Given the description of an element on the screen output the (x, y) to click on. 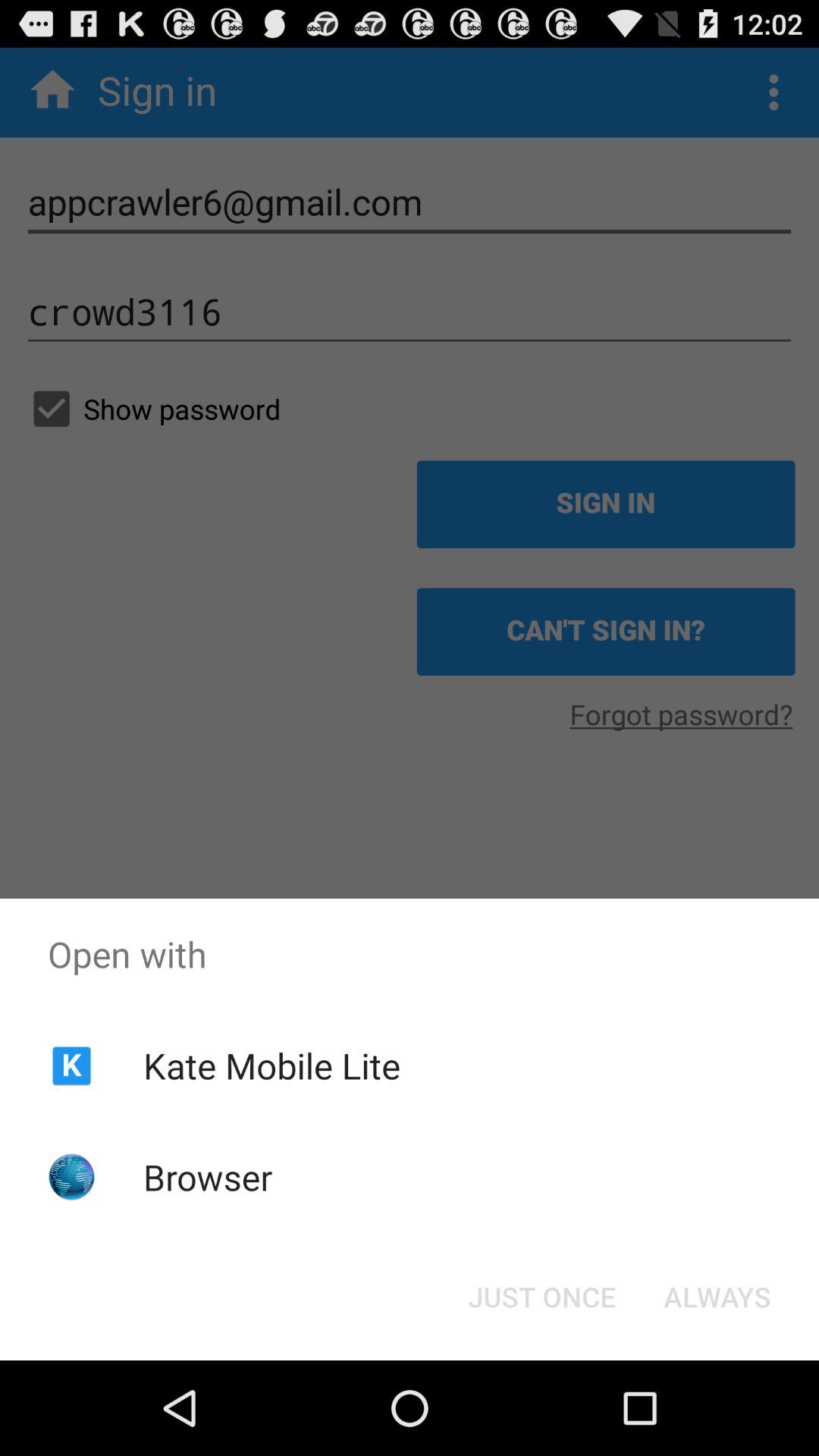
flip until the just once icon (541, 1296)
